Given the description of an element on the screen output the (x, y) to click on. 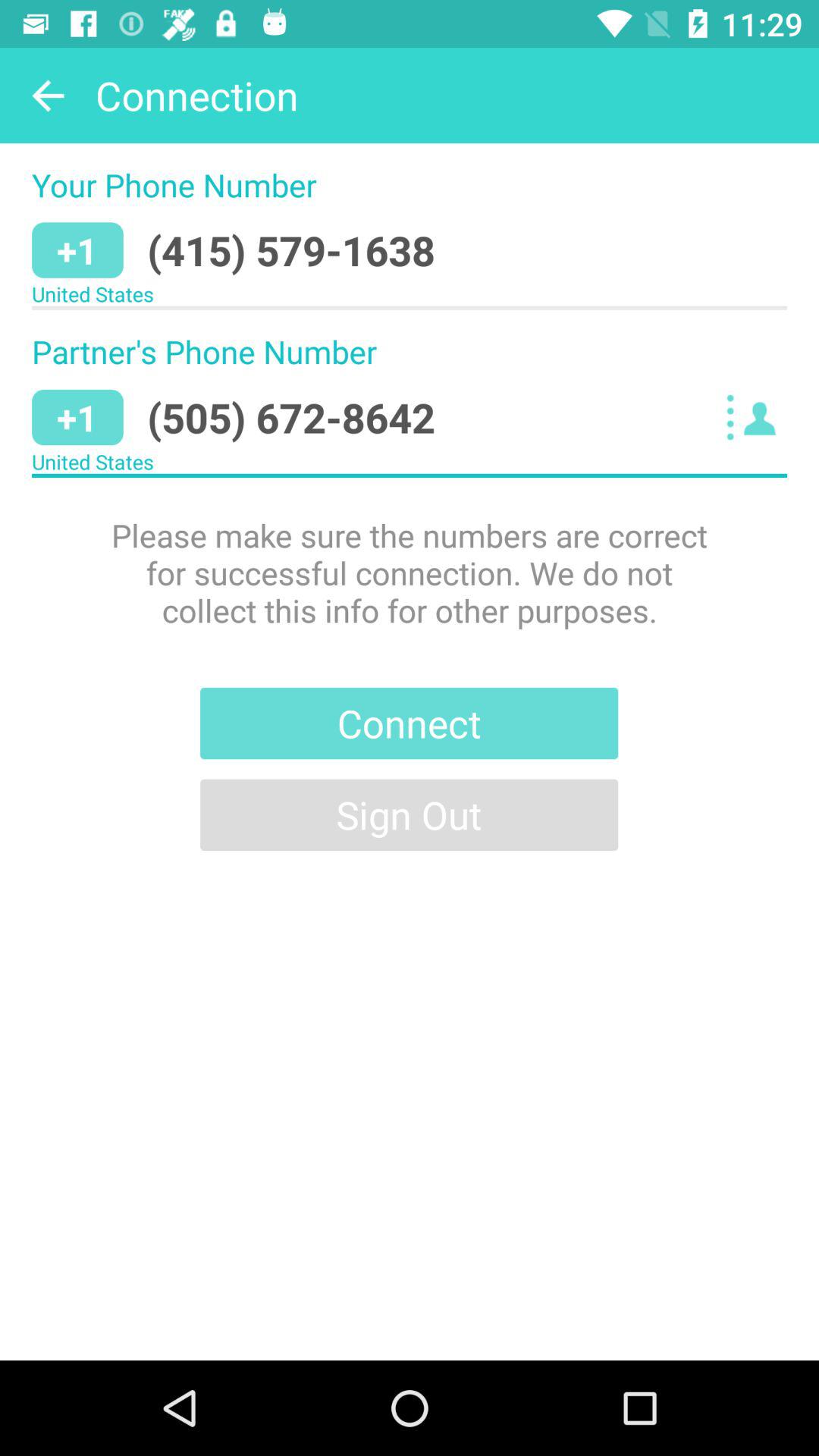
turn off icon above united states icon (291, 250)
